Given the description of an element on the screen output the (x, y) to click on. 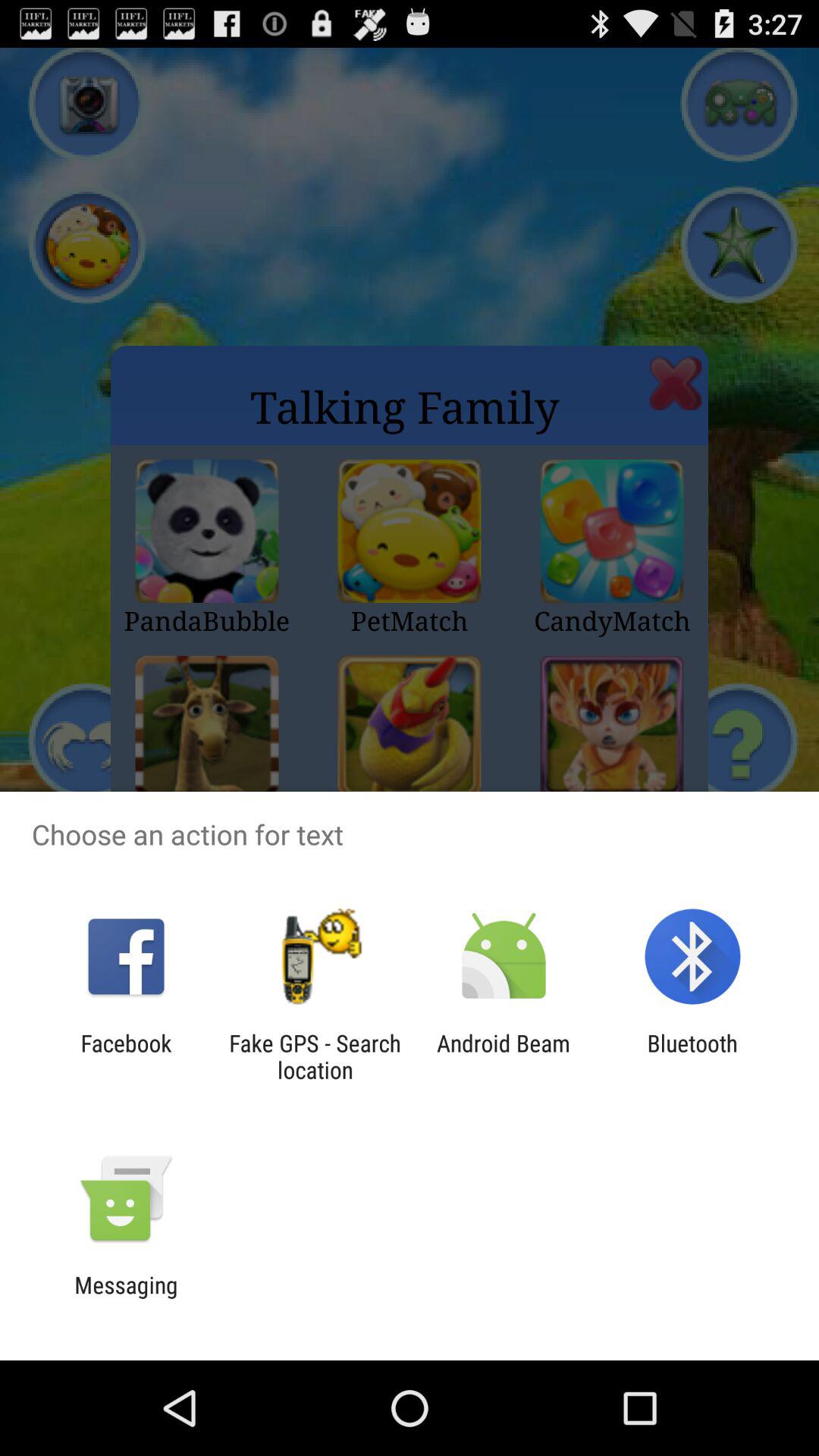
turn off the app next to bluetooth app (503, 1056)
